Given the description of an element on the screen output the (x, y) to click on. 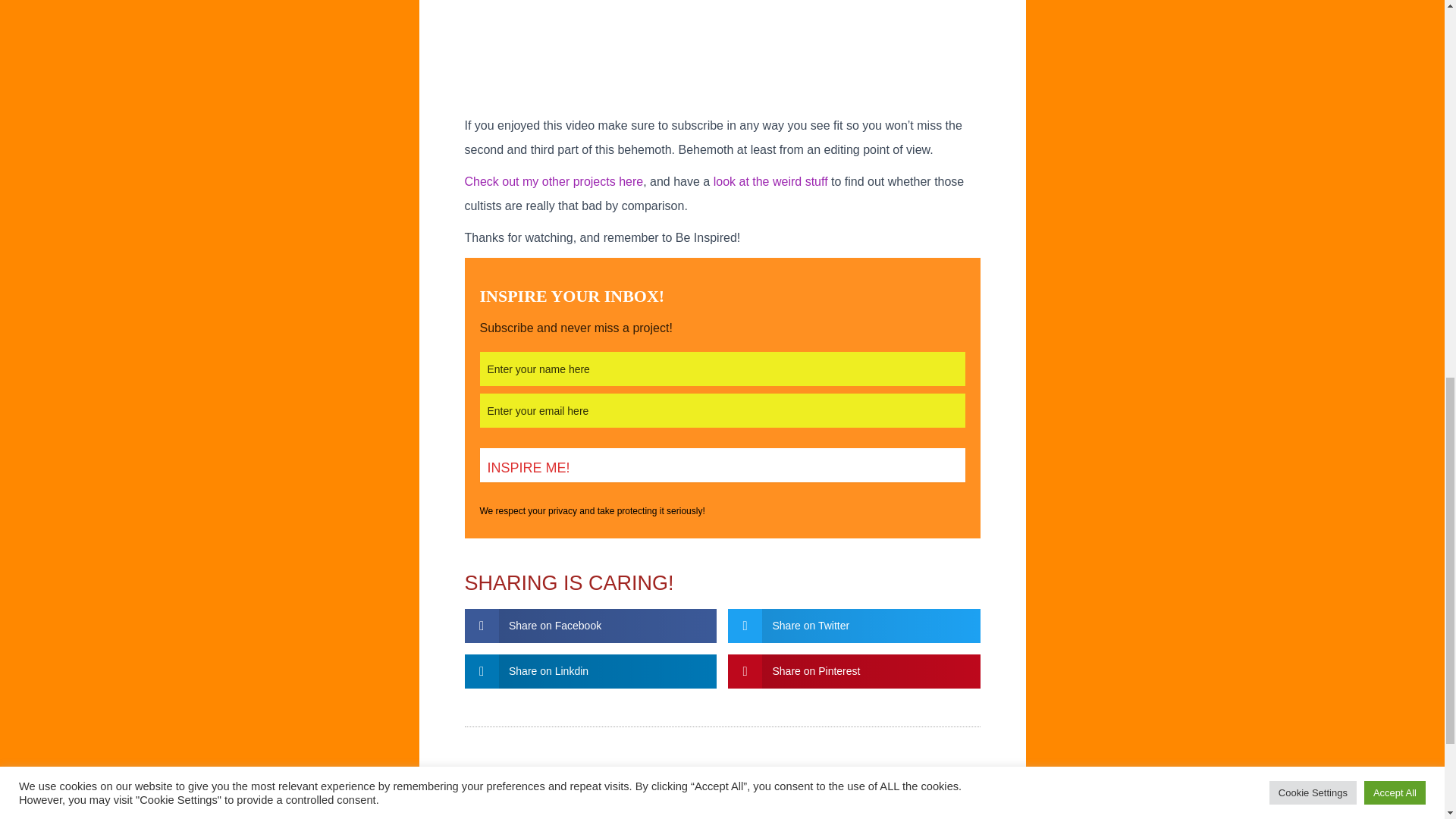
Check out my other projects here (553, 181)
Inspire me! (721, 464)
look at the weird stuff (770, 181)
Inspire me! (721, 464)
